Given the description of an element on the screen output the (x, y) to click on. 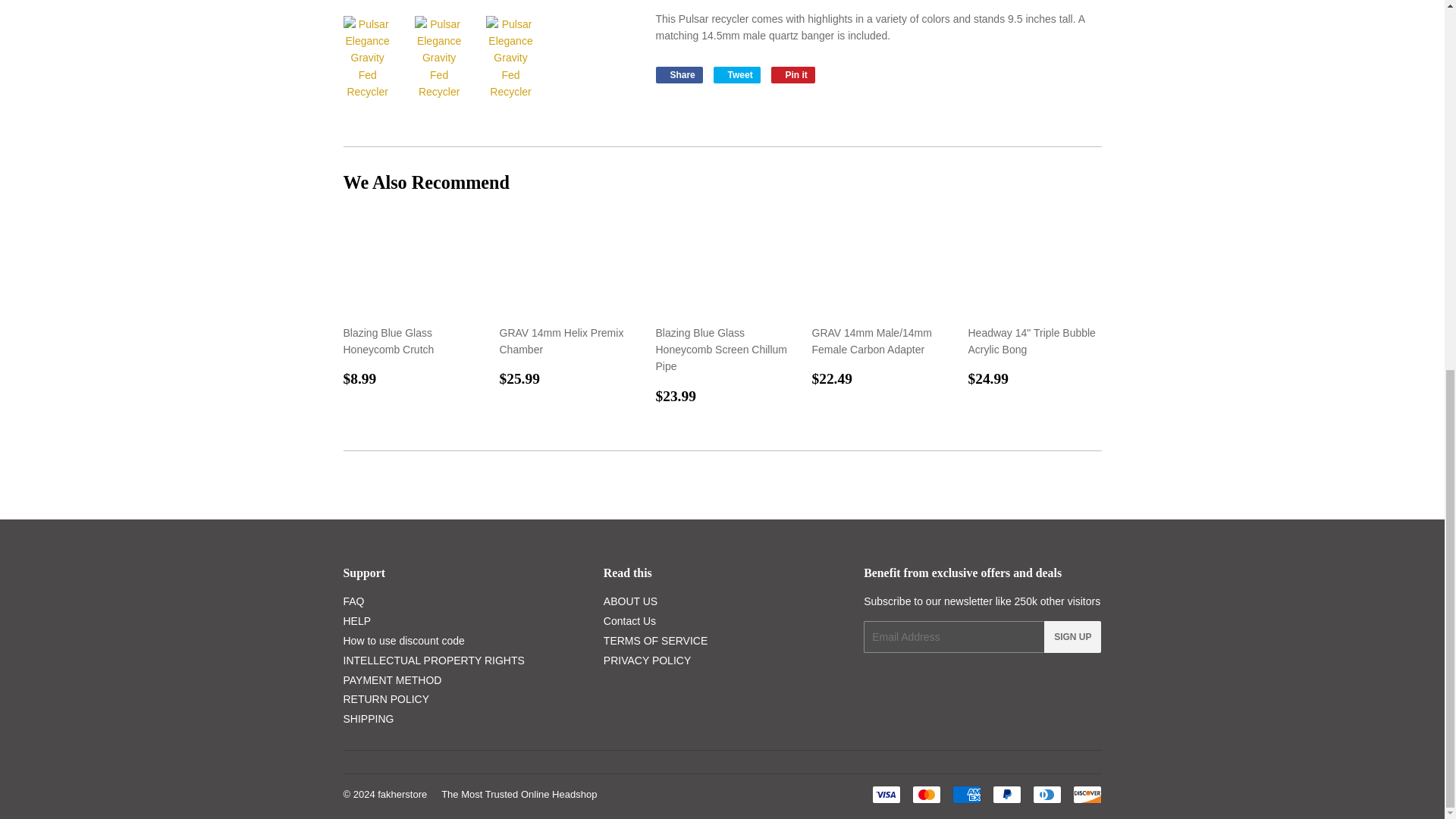
Pin on Pinterest (793, 74)
Diners Club (1046, 794)
Mastercard (925, 794)
Share on Facebook (678, 74)
Tweet on Twitter (736, 74)
PayPal (1005, 794)
American Express (966, 794)
Discover (1085, 794)
Visa (886, 794)
